Given the description of an element on the screen output the (x, y) to click on. 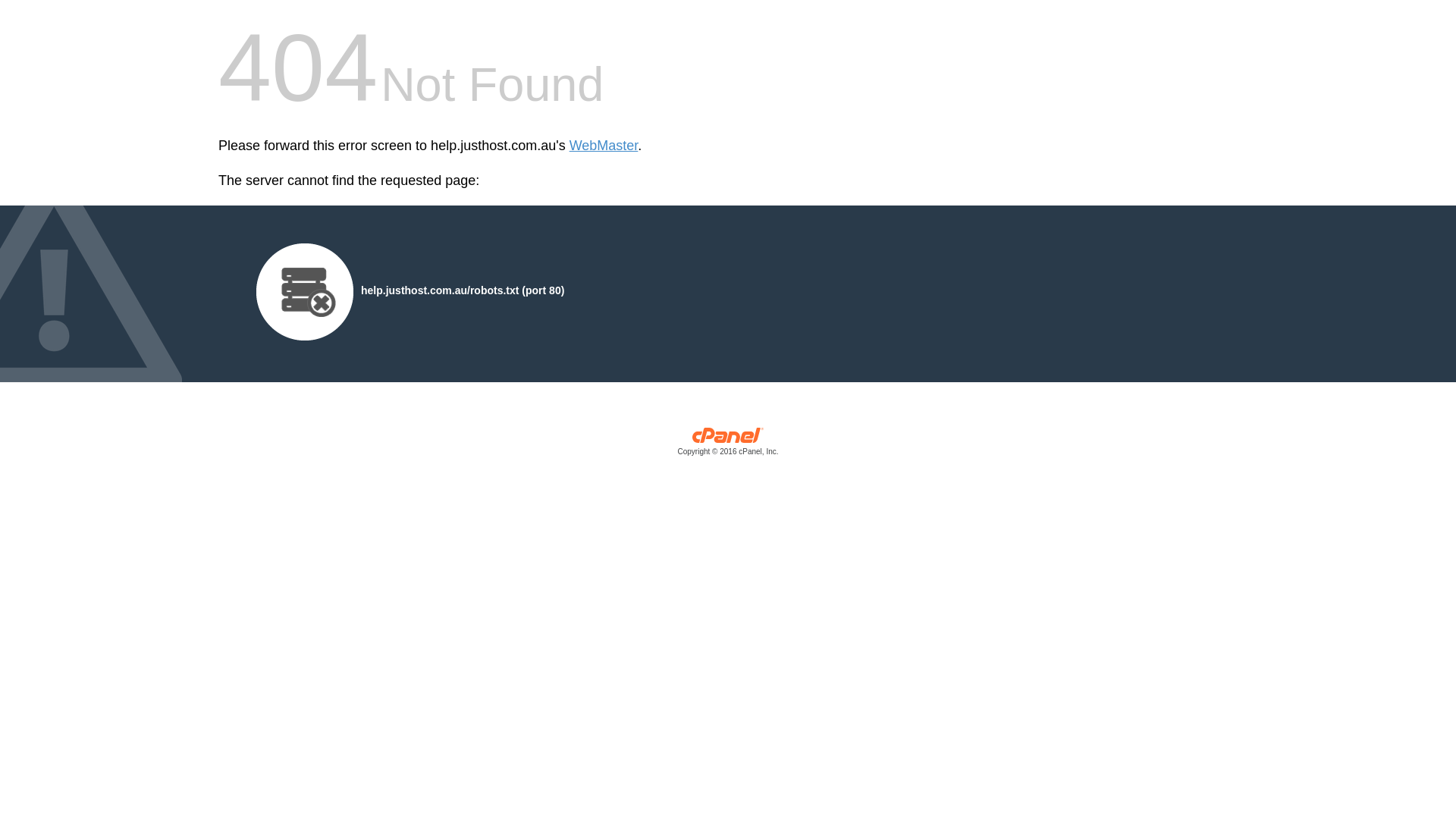
WebMaster Element type: text (603, 145)
